Given the description of an element on the screen output the (x, y) to click on. 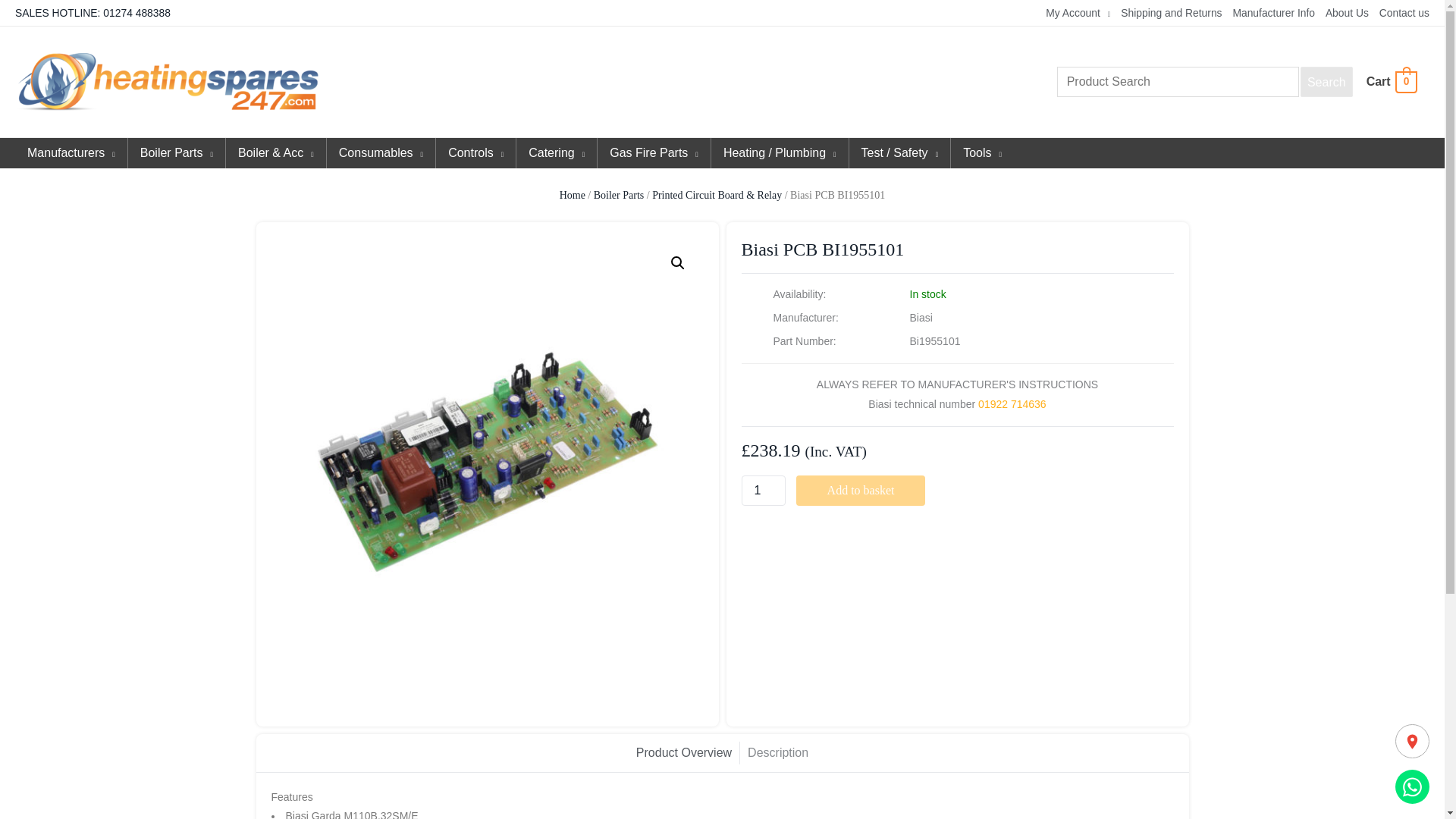
Manufacturers (71, 153)
View your shopping basket (1390, 81)
1 (763, 490)
Cart 0 (1390, 81)
My Account (1072, 12)
Search (1326, 81)
Shipping and Returns (1165, 12)
About Us (1341, 12)
Manufacturer Info (1268, 12)
Contact us (1398, 12)
